Given the description of an element on the screen output the (x, y) to click on. 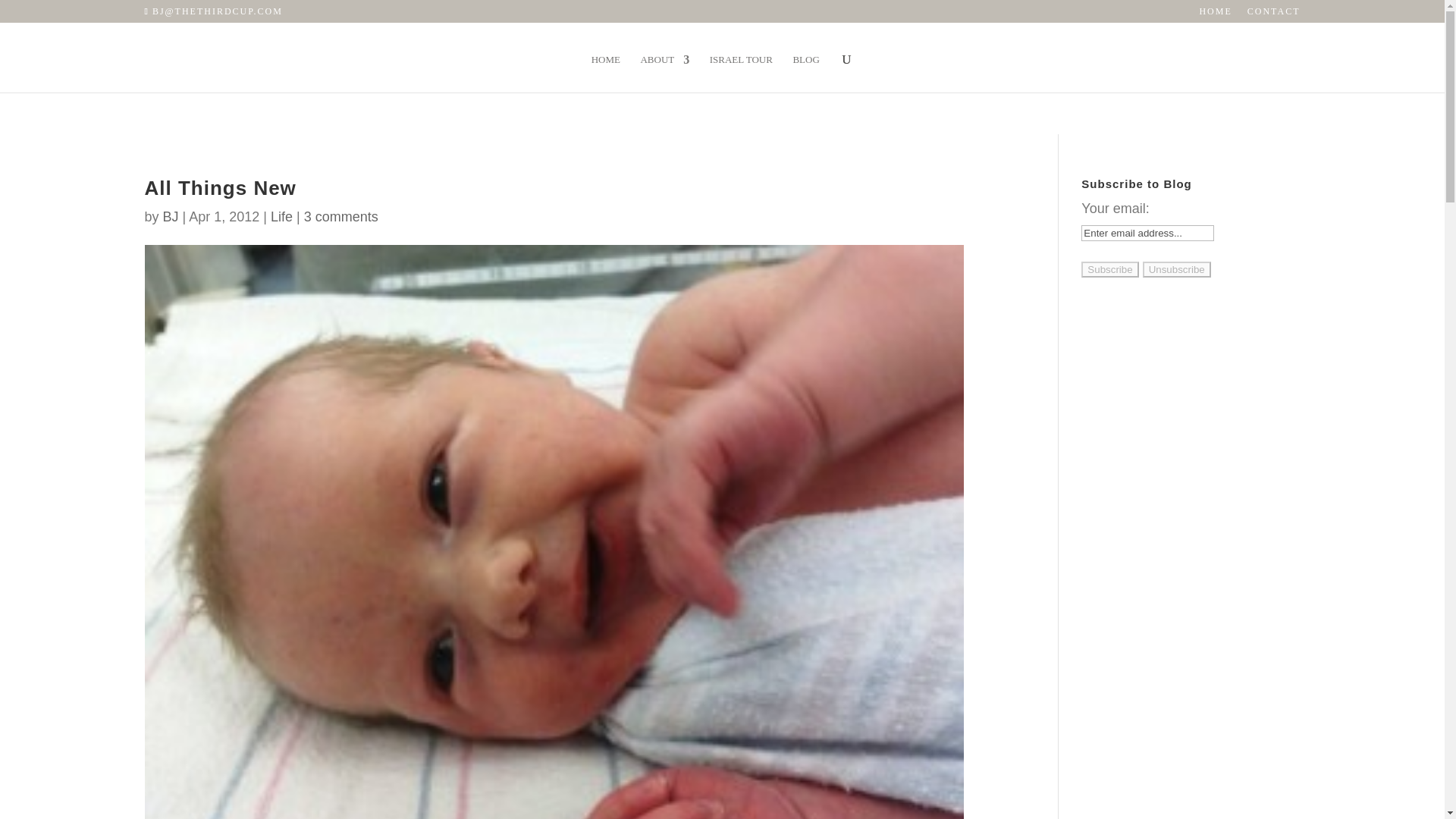
Life (281, 216)
Unsubscribe (1176, 269)
Subscribe (1109, 269)
Posts by BJ (171, 216)
ABOUT (664, 73)
ISRAEL TOUR (741, 73)
CONTACT (1273, 14)
Unsubscribe (1176, 269)
Enter email address... (1147, 232)
3 comments (341, 216)
BJ (171, 216)
Subscribe (1109, 269)
HOME (1214, 14)
